Given the description of an element on the screen output the (x, y) to click on. 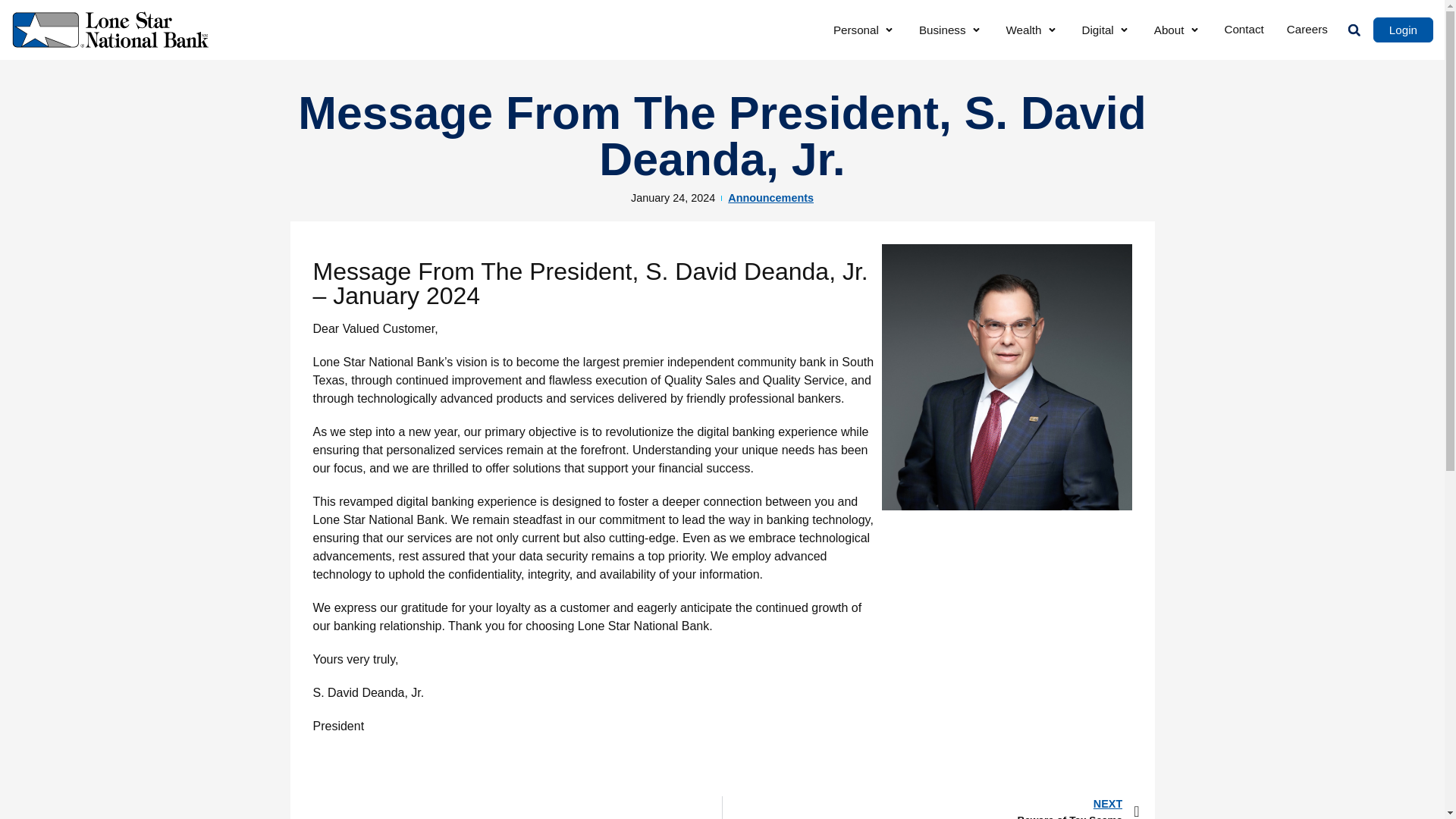
Personal (855, 30)
